Given the description of an element on the screen output the (x, y) to click on. 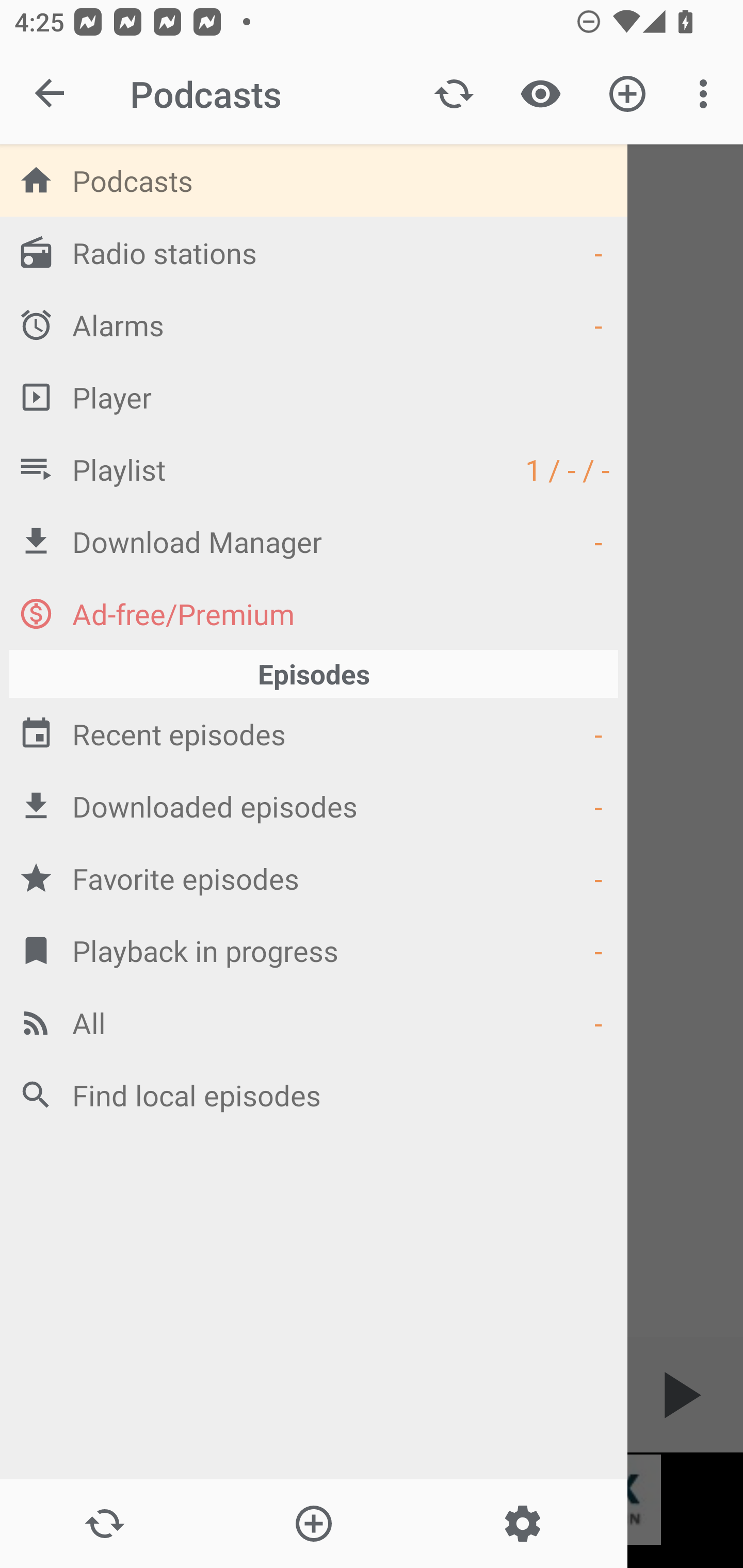
Close navigation sidebar (50, 93)
Update (453, 93)
Show / Hide played content (540, 93)
Add new Podcast (626, 93)
More options (706, 93)
Podcasts (313, 180)
Radio stations  -  (313, 252)
Alarms  -  (313, 324)
Player (313, 396)
Playlist 1 / - / - (313, 468)
Download Manager  -  (313, 540)
Ad-free/Premium (313, 613)
Recent episodes  -  (313, 733)
Downloaded episodes  -  (313, 805)
Favorite episodes  -  (313, 878)
Playback in progress  -  (313, 950)
All  -  (313, 1022)
Find local episodes (313, 1094)
Update (104, 1523)
Add new Podcast (312, 1523)
Settings (522, 1523)
